Given the description of an element on the screen output the (x, y) to click on. 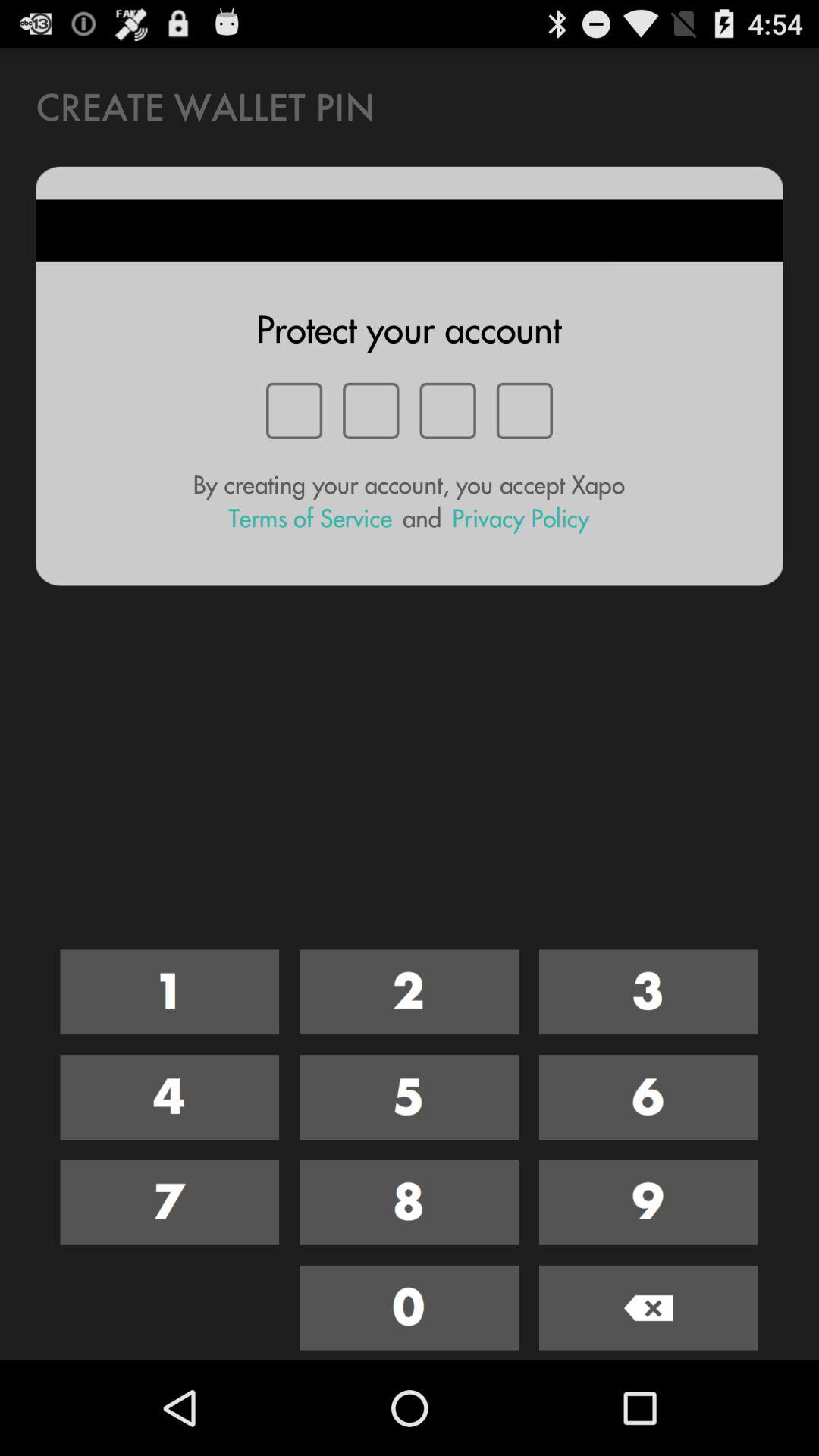
delete single character entry (648, 1307)
